Given the description of an element on the screen output the (x, y) to click on. 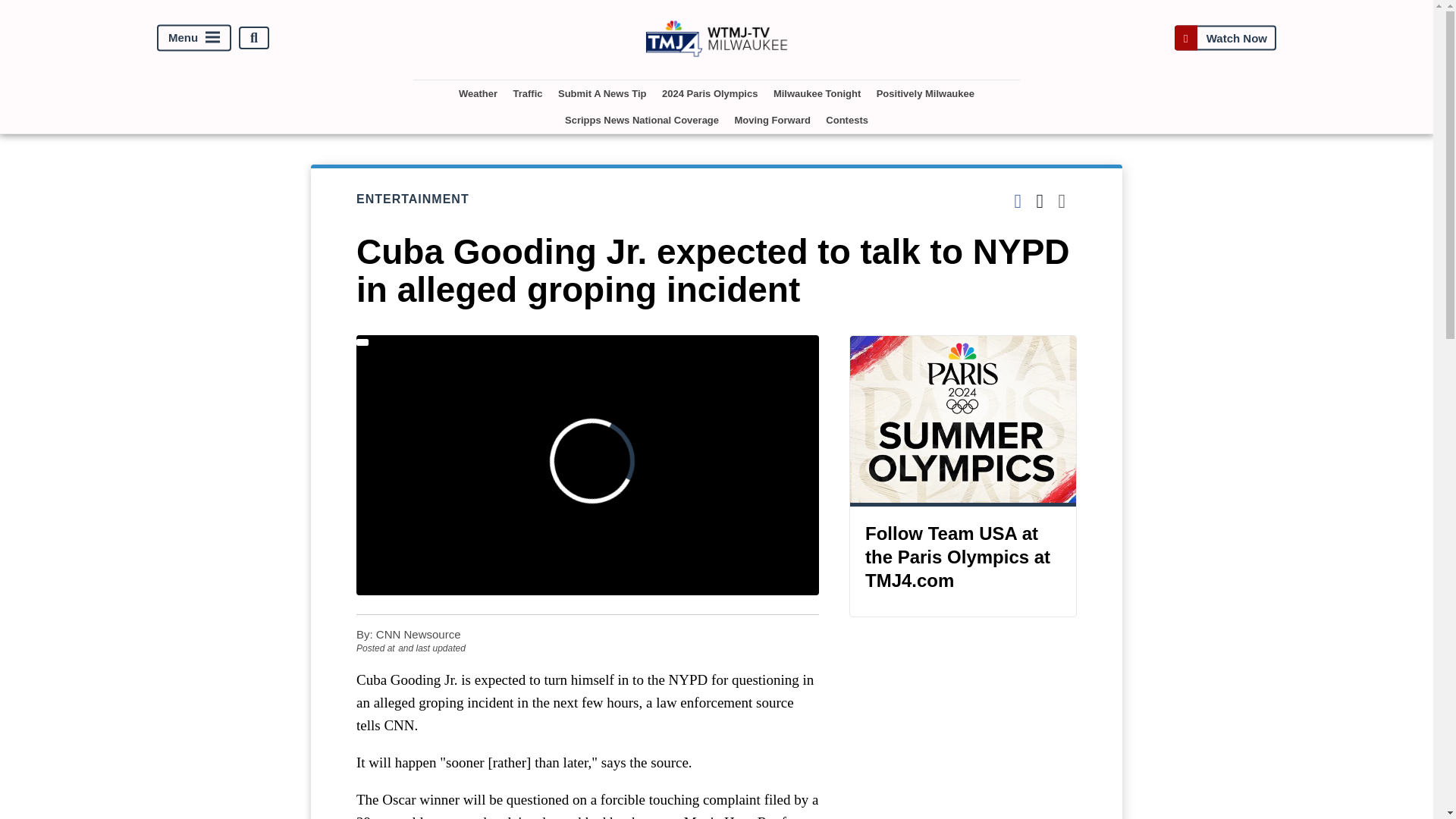
Watch Now (1224, 38)
Menu (194, 38)
